Given the description of an element on the screen output the (x, y) to click on. 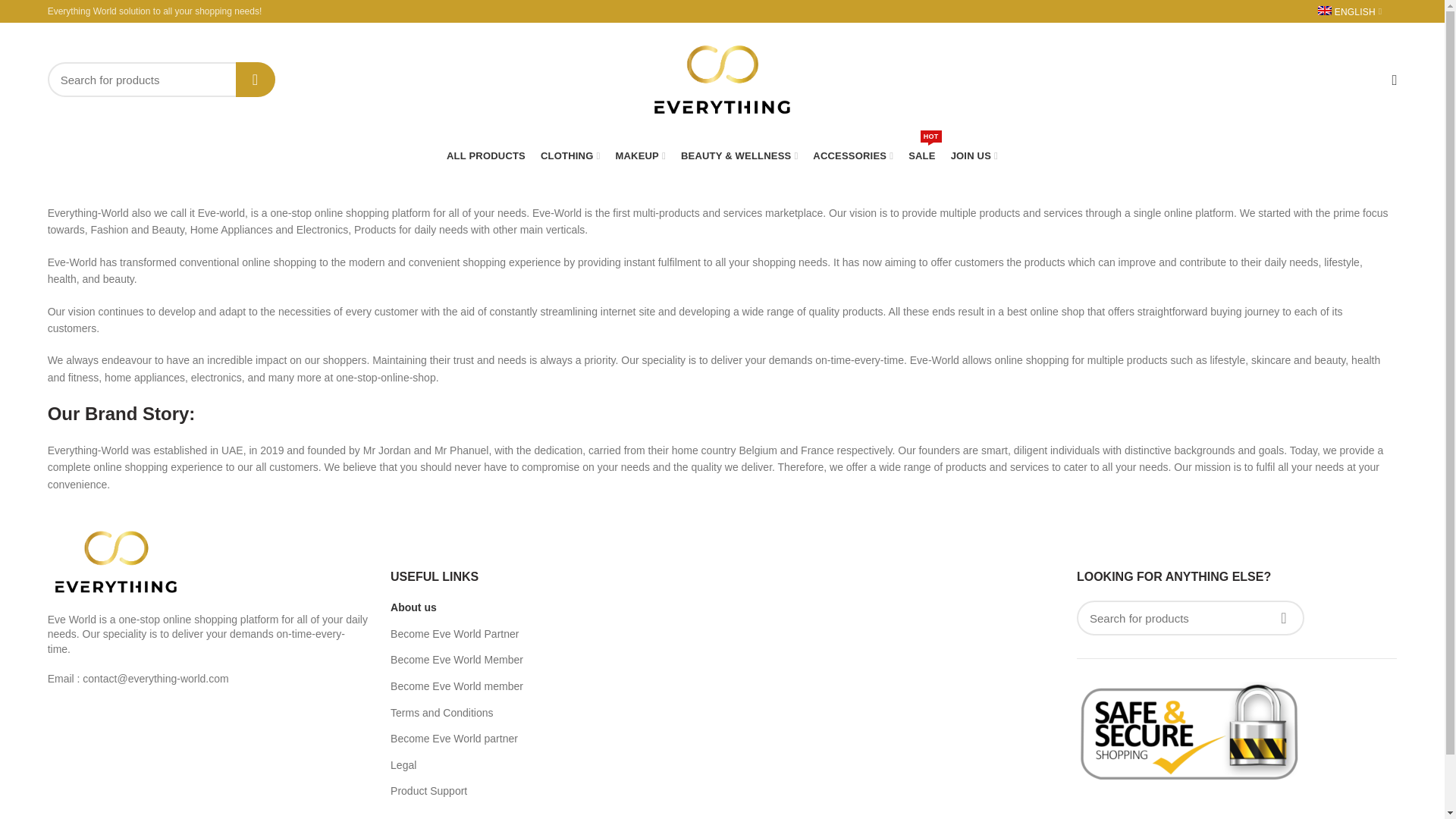
ALL PRODUCTS (485, 155)
ENGLISH (1349, 11)
CLOTHING (569, 155)
Log in (1271, 305)
SEARCH (255, 79)
English (1349, 11)
